Given the description of an element on the screen output the (x, y) to click on. 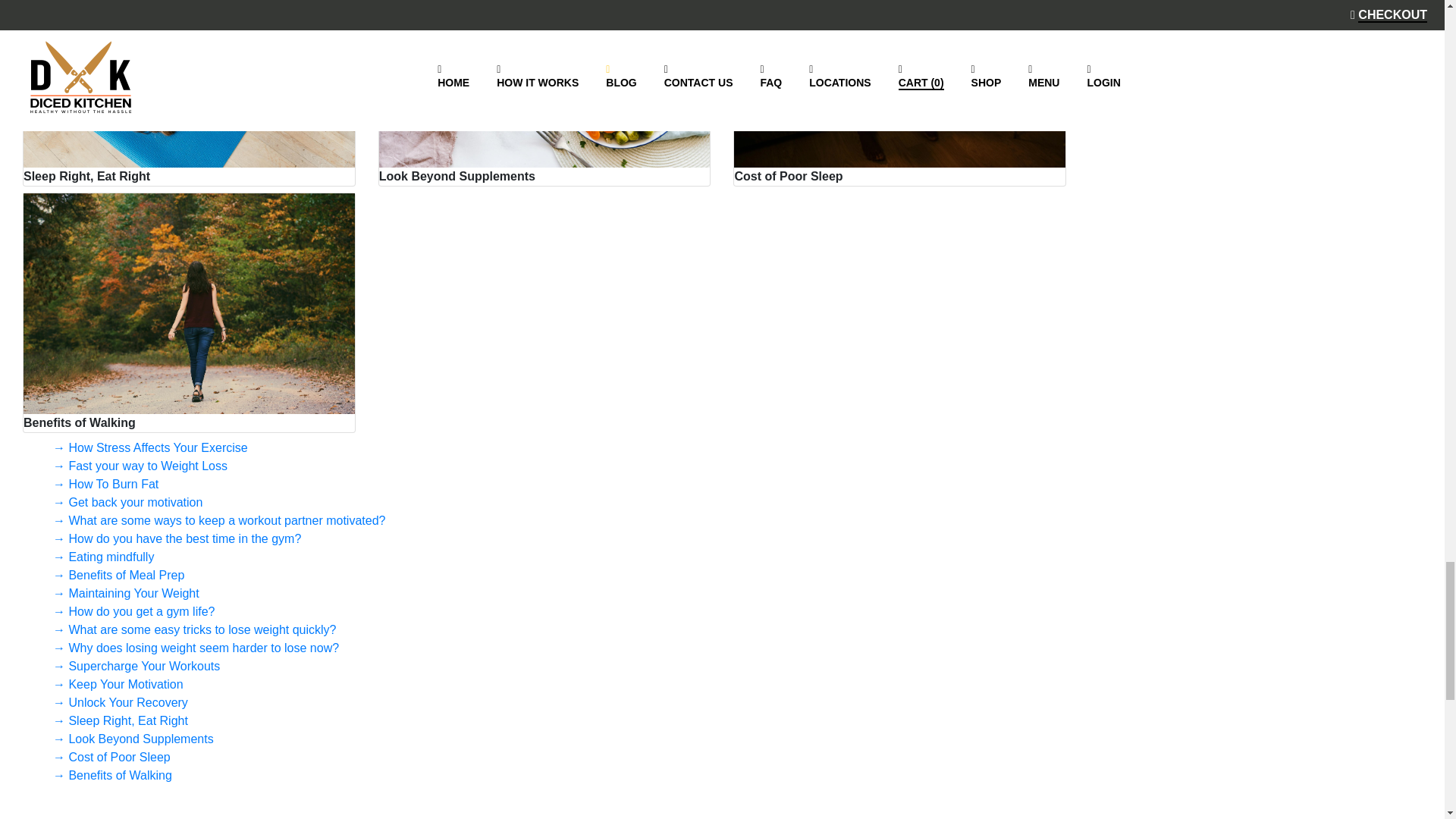
Sleep Right, Eat Right (189, 93)
